Given the description of an element on the screen output the (x, y) to click on. 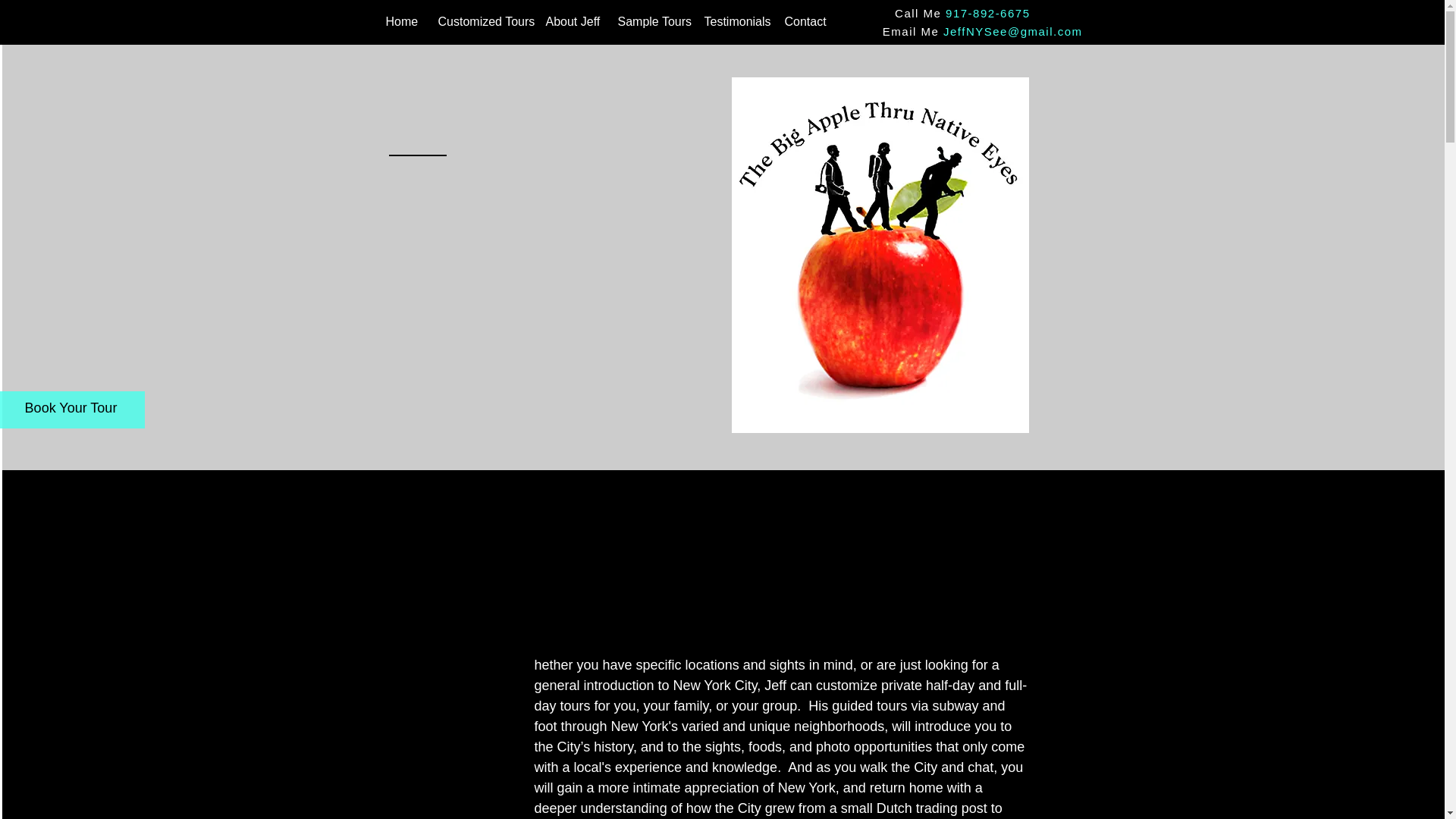
Testimonials (733, 21)
About Jeff (569, 21)
Home (400, 21)
Contact (803, 21)
Sample Tours (650, 21)
Customized Tours (480, 21)
Book Your Tour (70, 407)
